Given the description of an element on the screen output the (x, y) to click on. 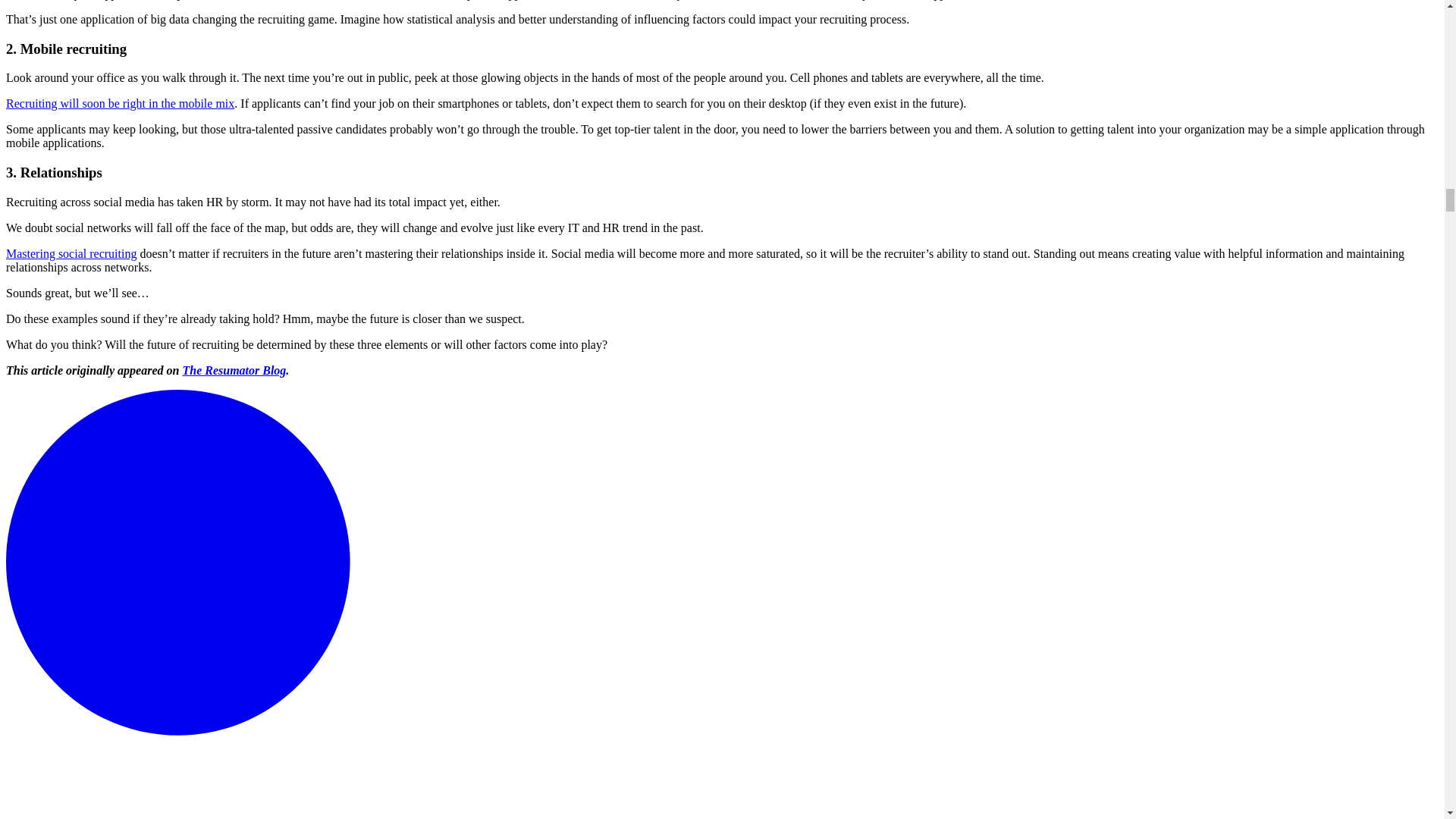
Recruiting will soon be right in the mobile mix (119, 103)
Mastering social recruiting (70, 253)
The Resumator Blog (233, 369)
